Given the description of an element on the screen output the (x, y) to click on. 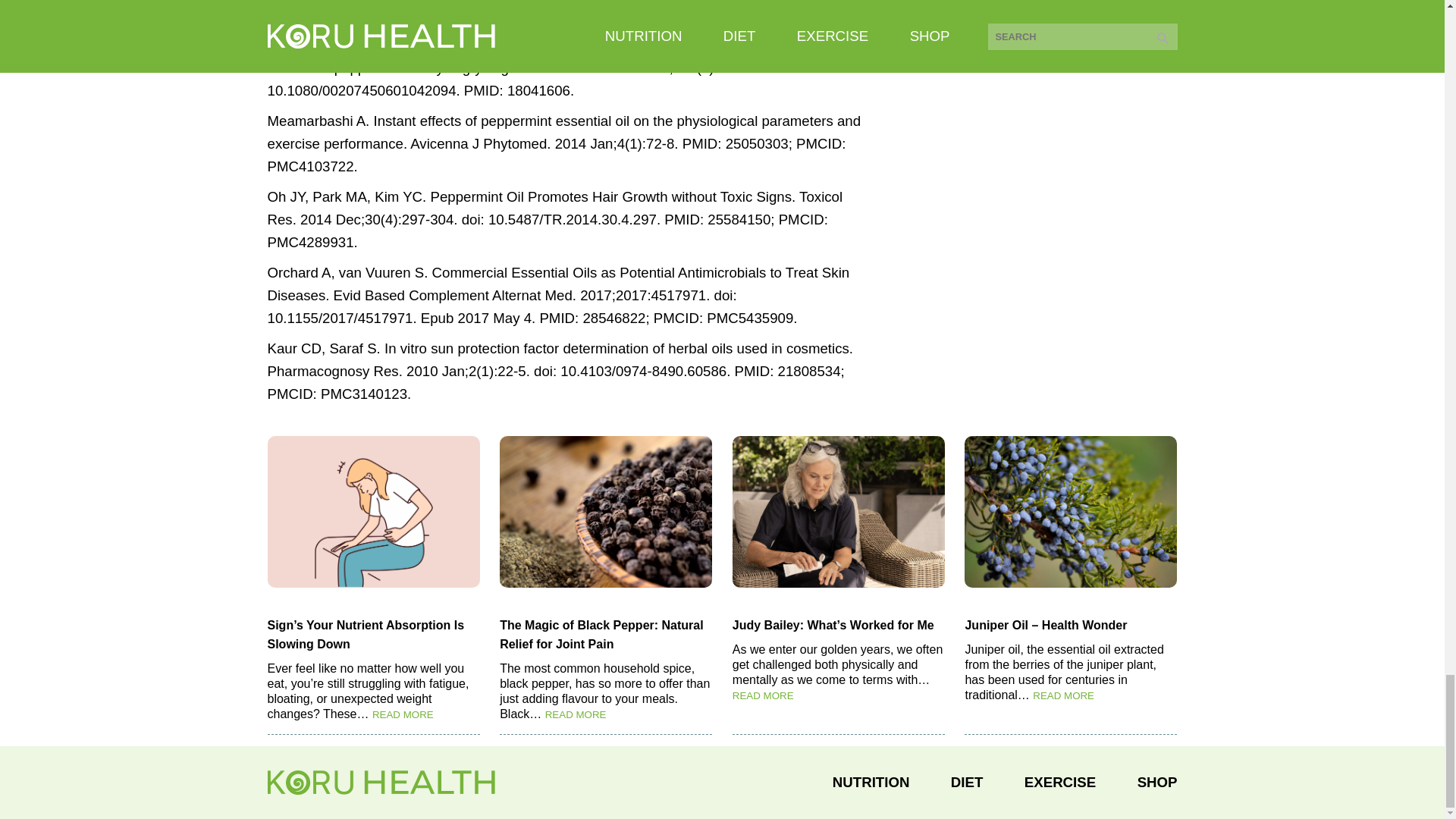
The Magic of Black Pepper: Natural Relief for Joint Pain (605, 634)
READ MORE (762, 694)
READ MORE (402, 713)
READ MORE (575, 713)
